Given the description of an element on the screen output the (x, y) to click on. 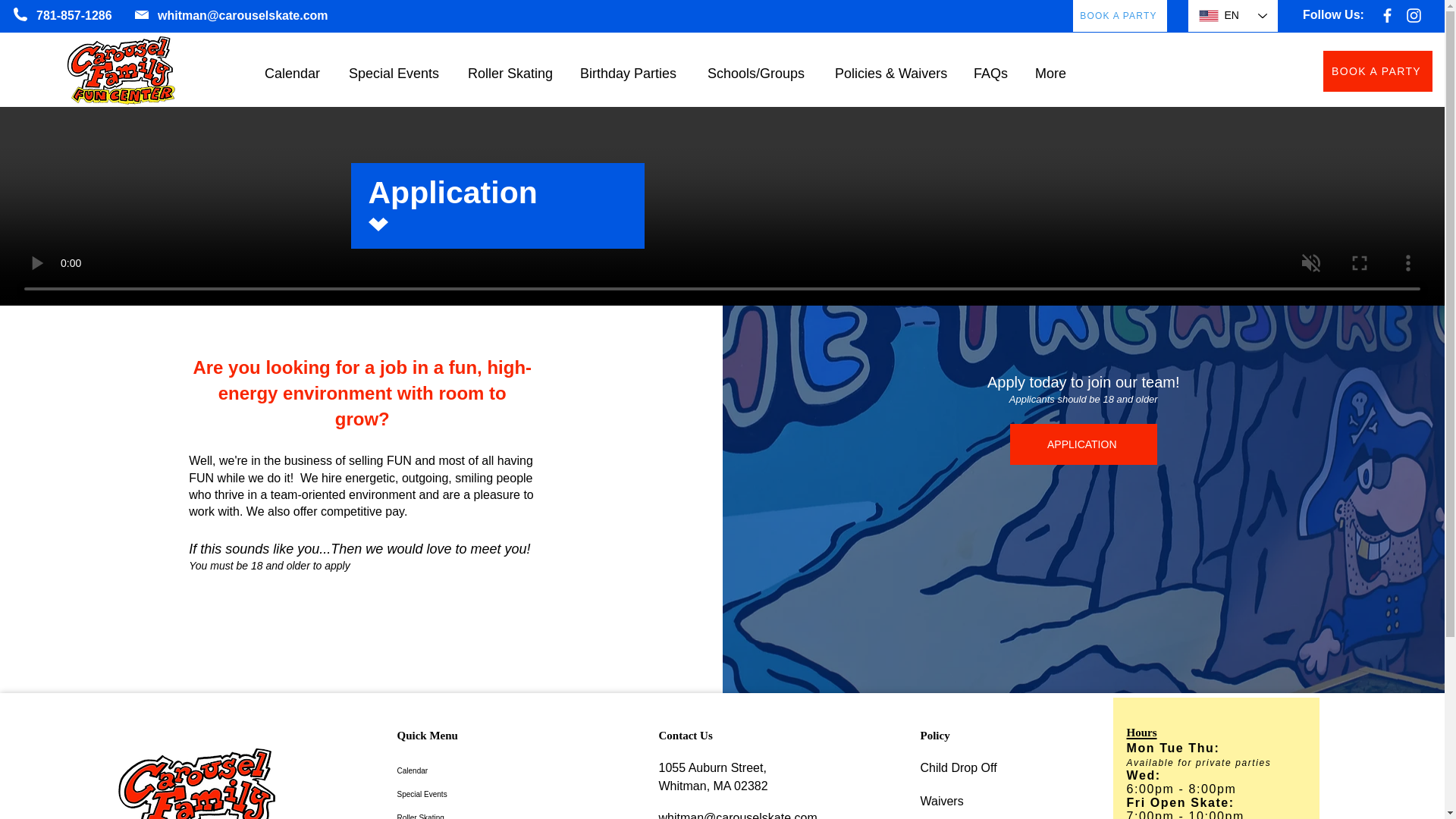
APPLICATION (1083, 444)
Calendar (292, 66)
BOOK A PARTY (1377, 70)
Birthday Parties (630, 66)
Waivers (941, 800)
Calendar (454, 770)
Special Events (454, 793)
Special Events (394, 66)
Child Drop Off (958, 767)
Roller Skating (510, 66)
